Given the description of an element on the screen output the (x, y) to click on. 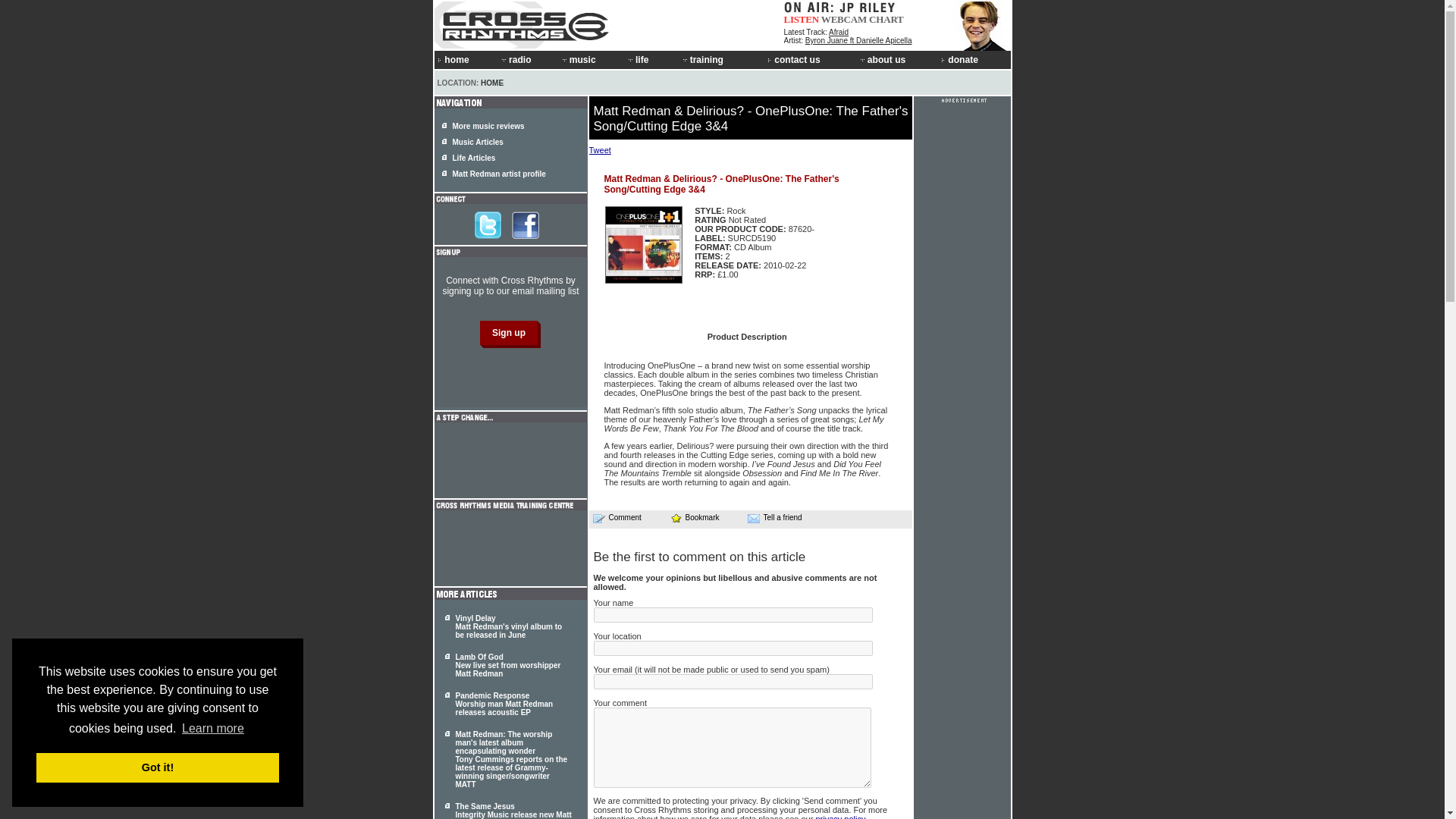
CHART (886, 19)
Byron Juane ft Danielle Apicella (858, 40)
WEBCAM (843, 19)
life (651, 59)
Afraid (838, 31)
3rd party ad content (510, 547)
Sign up (508, 332)
Learn more (212, 728)
radio (528, 59)
LISTEN (801, 19)
music (591, 59)
Got it! (157, 767)
contact us (811, 59)
about us (898, 59)
3rd party ad content (510, 459)
